Given the description of an element on the screen output the (x, y) to click on. 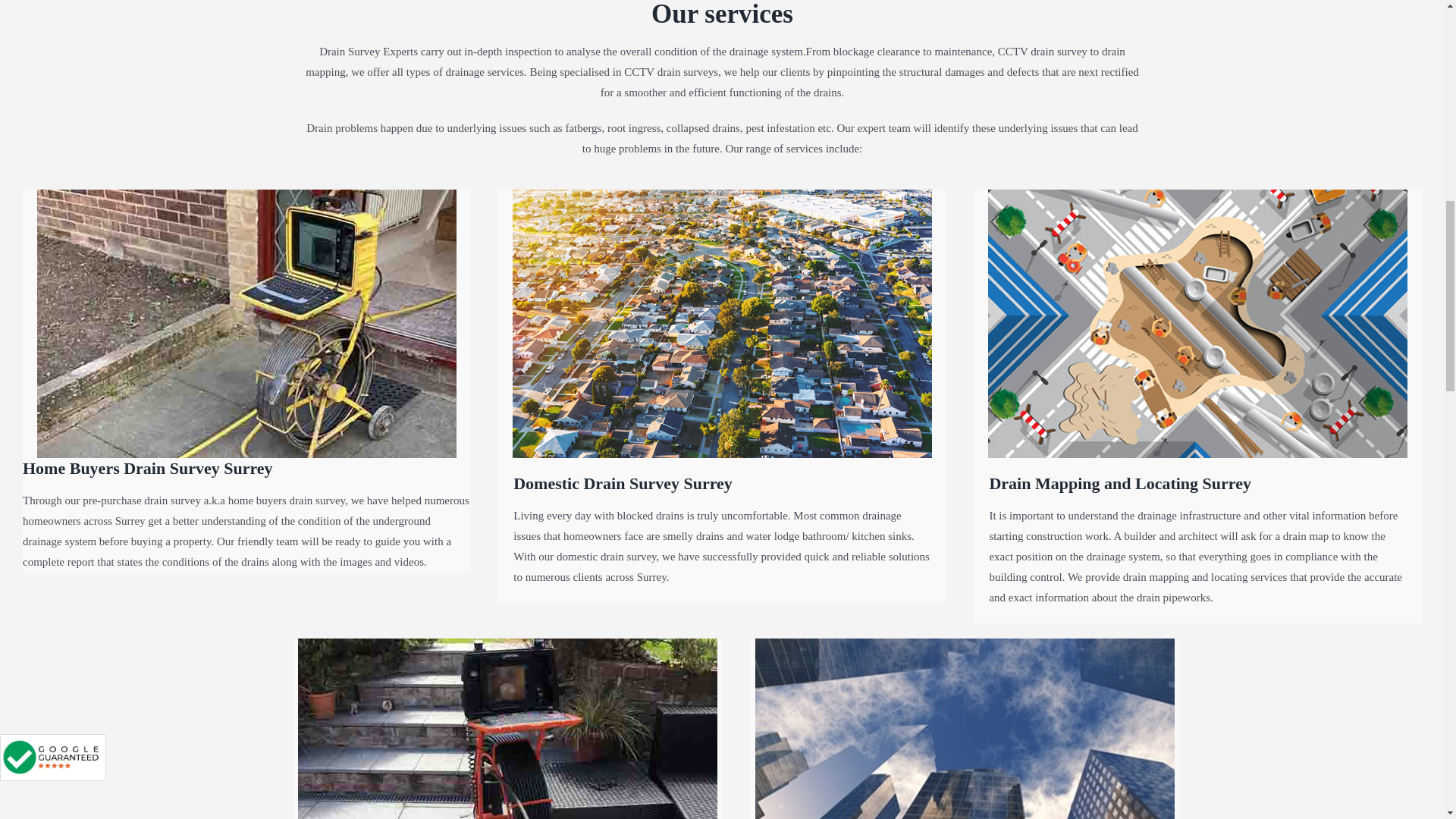
DRAIN MAPPING AND LOCATING (1197, 323)
DOMESTIC CCTV DRAIN SURVEY (721, 323)
COMMERCIAL CCTV DRAIN SURVEY (964, 728)
